Given the description of an element on the screen output the (x, y) to click on. 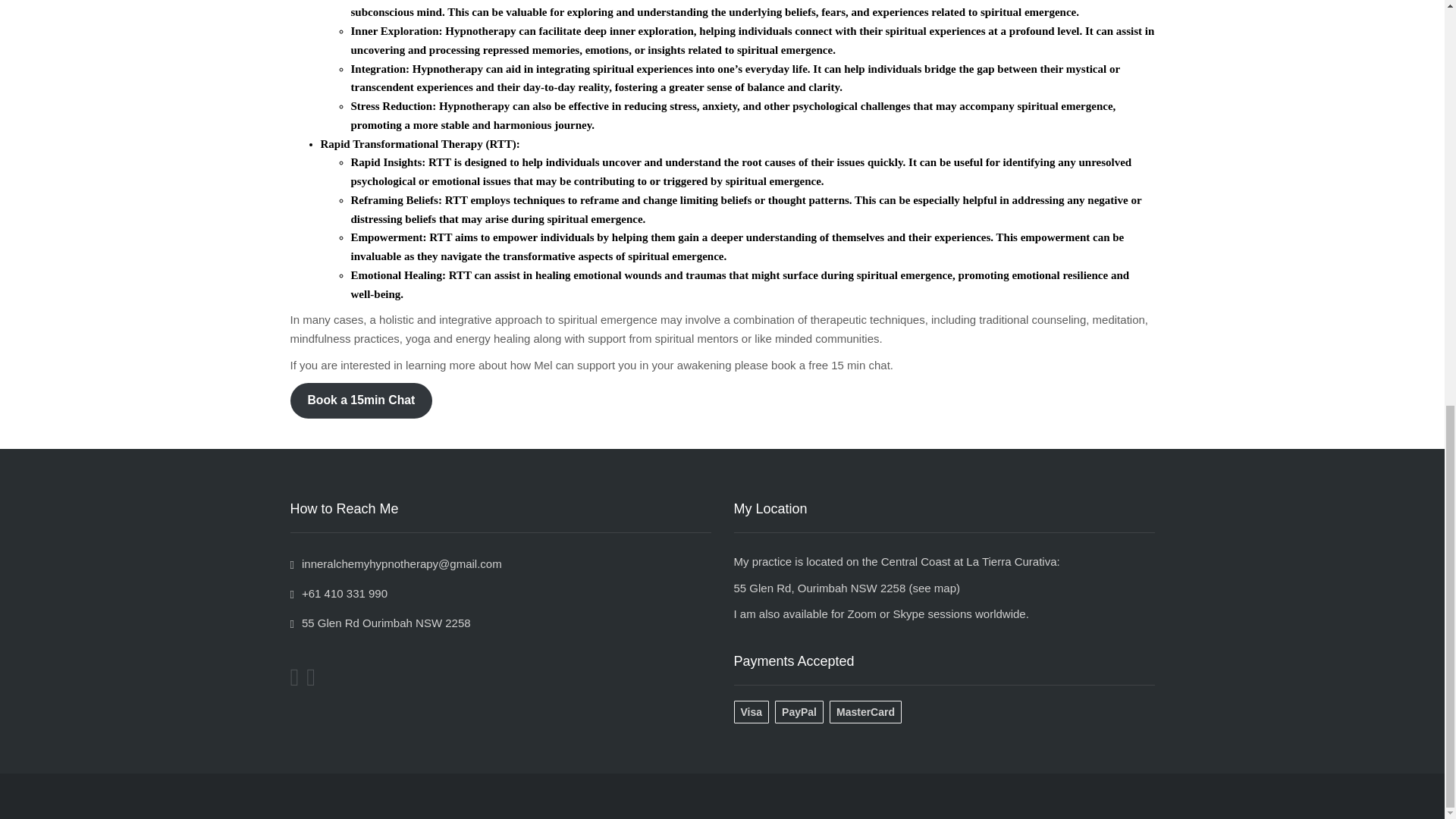
Book a 15min Chat (360, 400)
55 Glen Rd Ourimbah NSW 2258 (379, 622)
see map (934, 587)
La Tierra Curativa (1011, 561)
Visa (754, 711)
PayPal (801, 711)
MasterCard (868, 711)
